Given the description of an element on the screen output the (x, y) to click on. 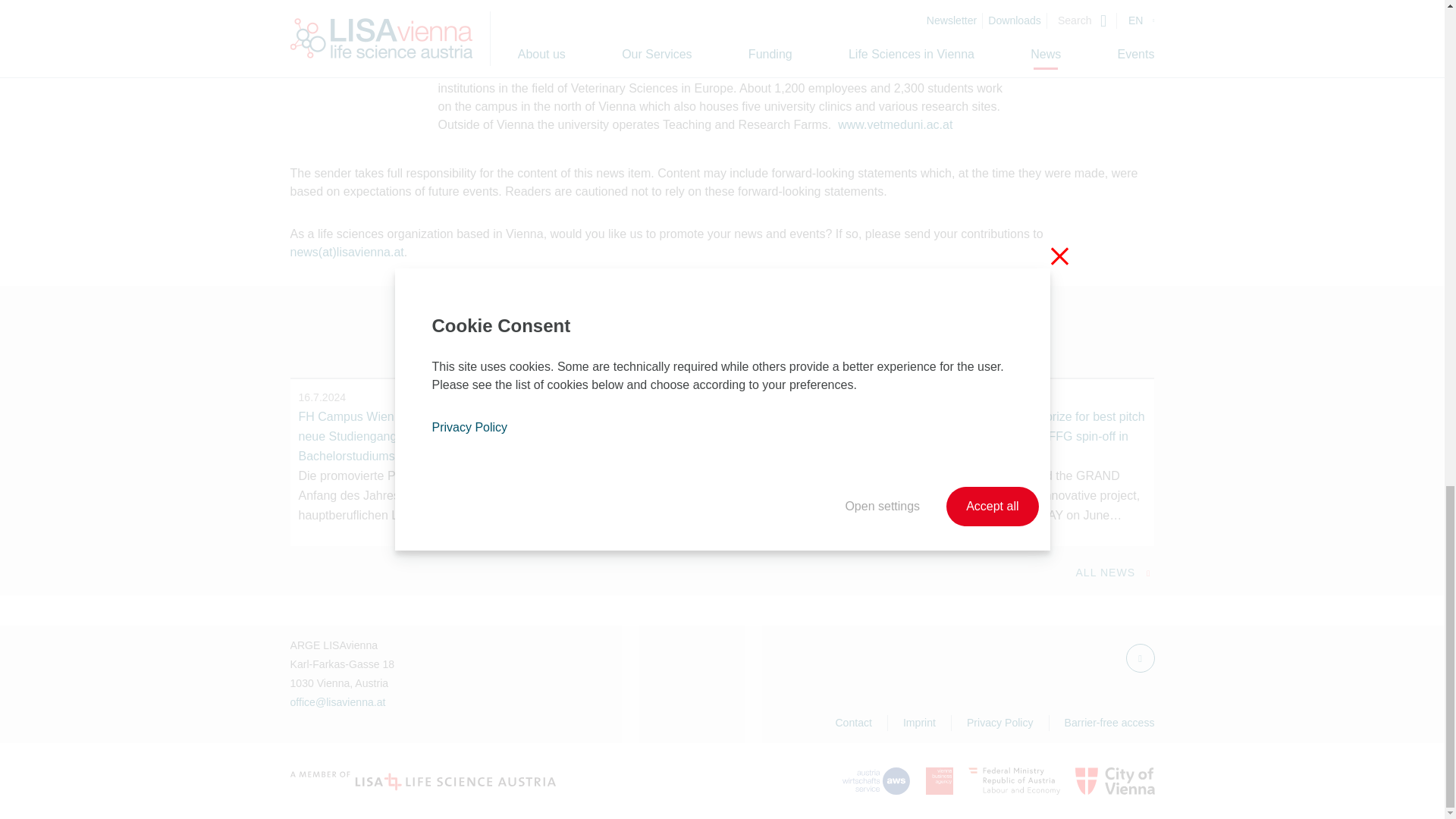
www.vetmeduni.ac.at (895, 124)
ALL NEWS (1114, 572)
